Given the description of an element on the screen output the (x, y) to click on. 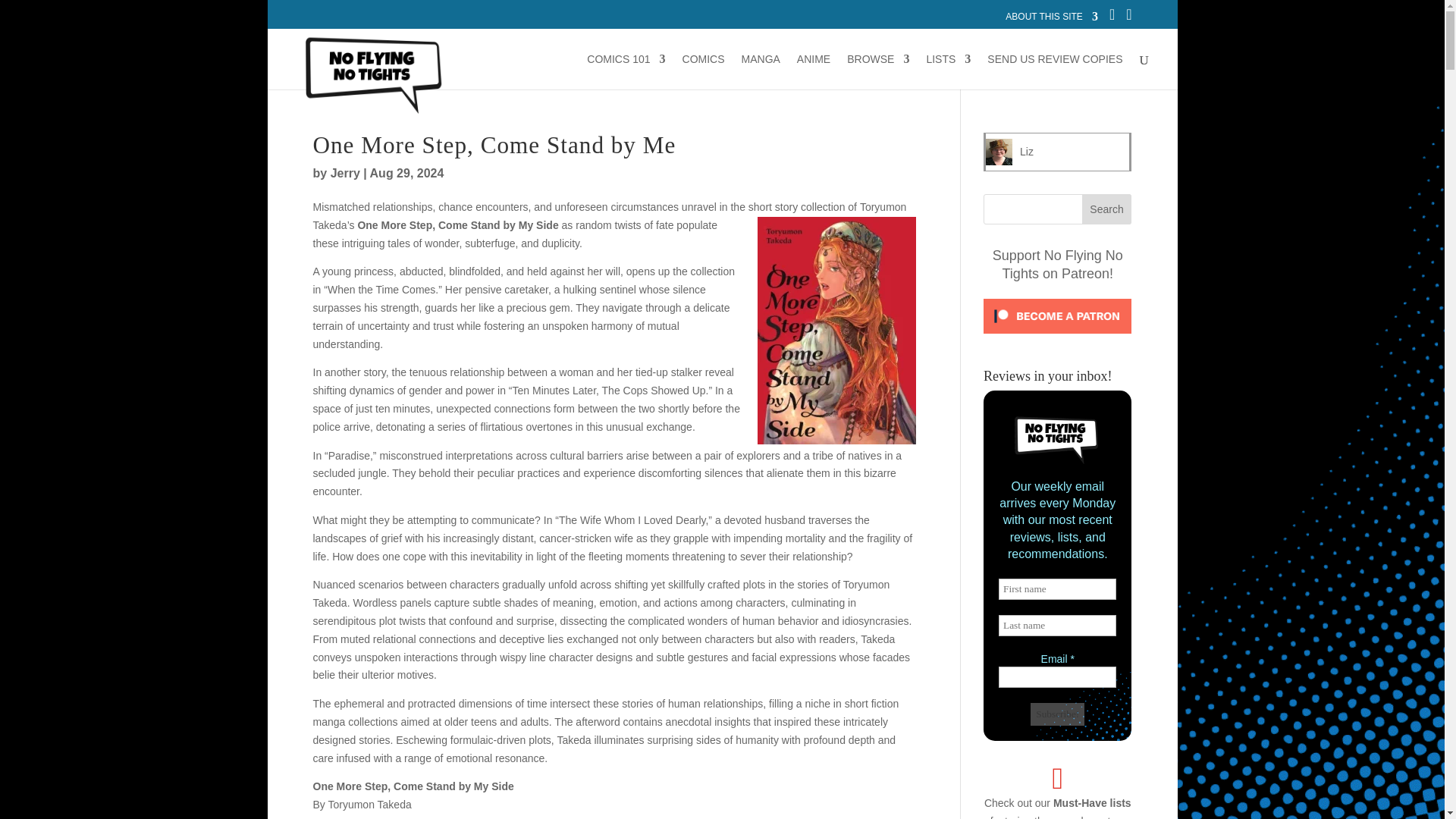
BROWSE (877, 71)
LISTS (948, 71)
ANIME (812, 71)
Liz (1026, 151)
COMICS 101 (625, 71)
Subscribe! (1057, 713)
COMICS (703, 71)
First name (1057, 588)
Posts by Jerry (344, 173)
Last name (1057, 625)
